Given the description of an element on the screen output the (x, y) to click on. 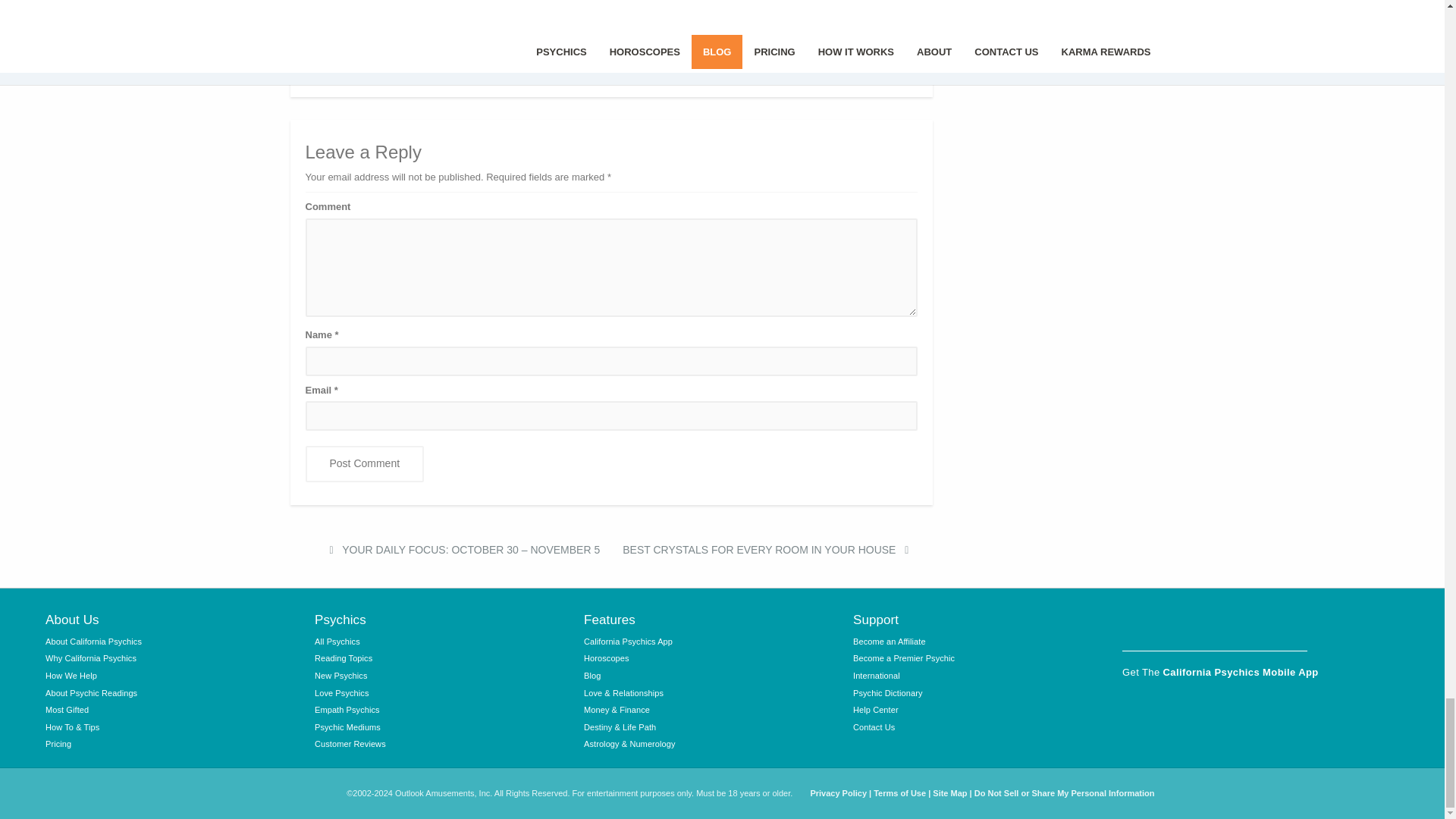
Go to YouTube (1254, 626)
Go to Instagram (1176, 626)
Go to Facebook (1136, 626)
Go to Pinterest (1292, 626)
Post Comment (363, 463)
Go to Twitter (1213, 626)
